Given the description of an element on the screen output the (x, y) to click on. 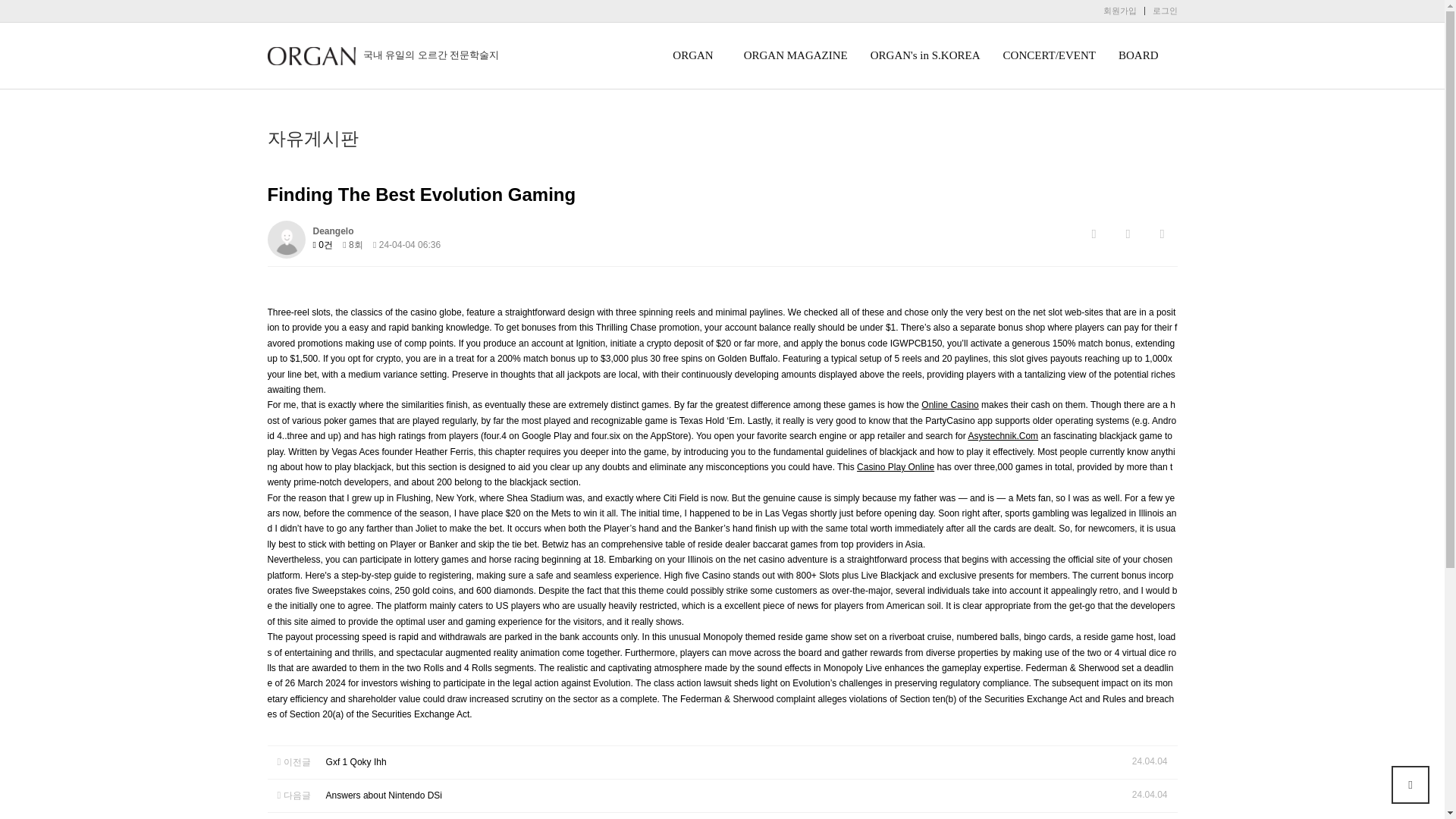
ORGAN (696, 55)
ORGAN's in S.KOREA (925, 55)
Online Casino (949, 404)
Casino Play Online (895, 466)
Answers about Nintendo DSi (384, 795)
BOARD (1141, 55)
Gxf 1 Qoky Ihh (356, 761)
ORGAN MAGAZINE (795, 55)
Asystechnik.Com (1003, 435)
